Given the description of an element on the screen output the (x, y) to click on. 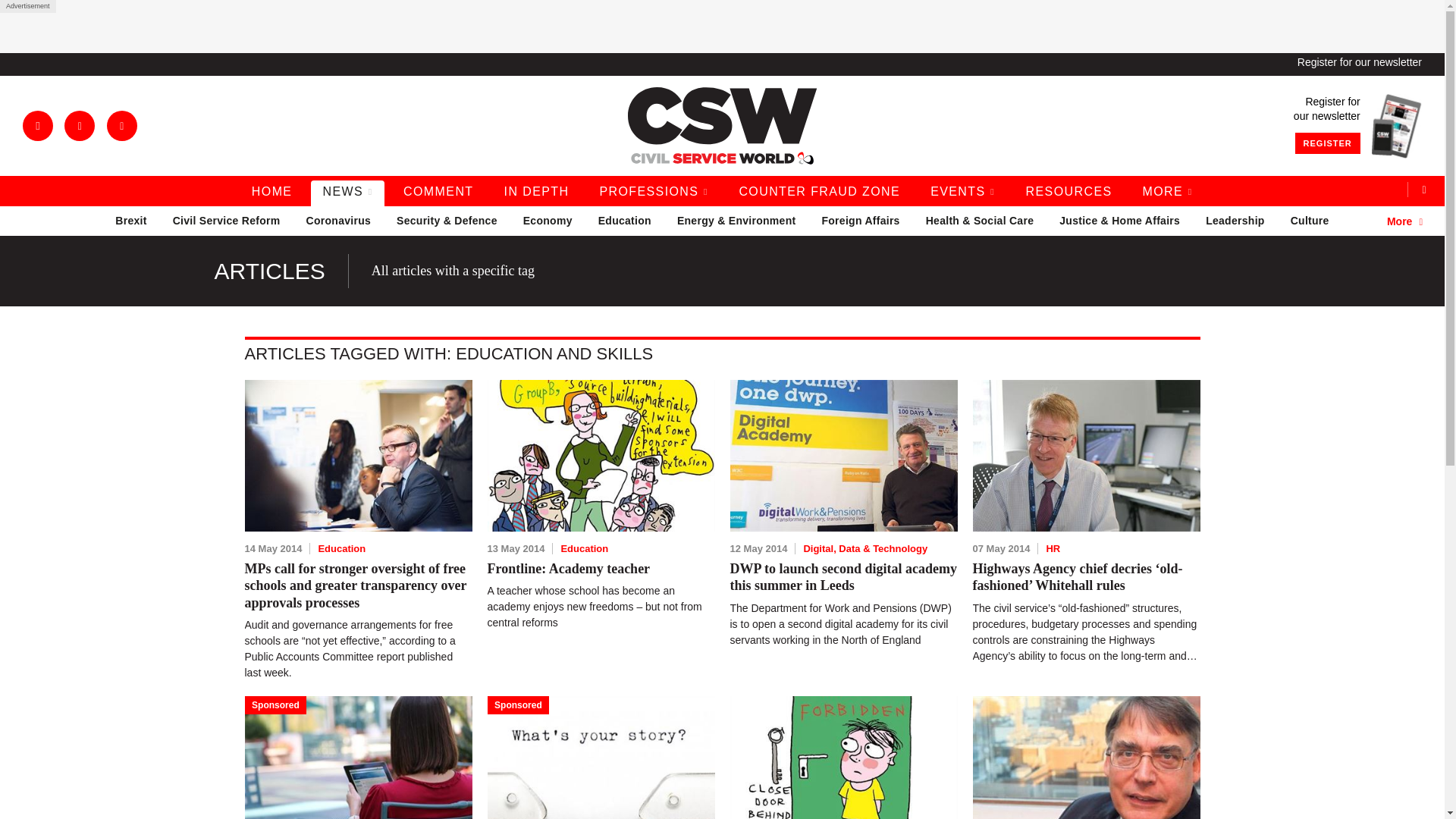
NEWS (347, 193)
REGISTER (1327, 143)
IN DEPTH (536, 193)
Register for our newsletter (1359, 61)
HOME (272, 193)
PROFESSIONS (653, 193)
COMMENT (437, 193)
Civil Service World (721, 125)
